Given the description of an element on the screen output the (x, y) to click on. 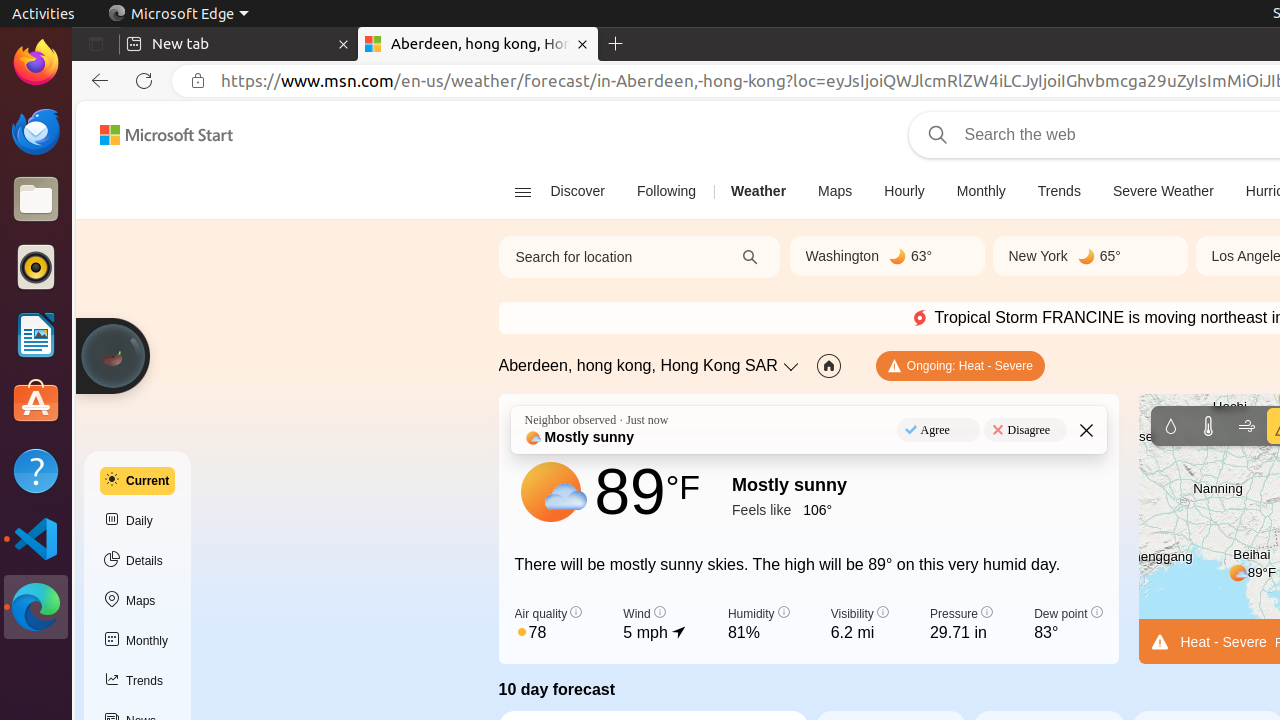
Open navigation menu Element type: push-button (522, 191)
89 °F Element type: link (647, 492)
Temperature Element type: push-button (1208, 426)
Visibility 6.2 mi Element type: link (859, 625)
Ongoing: Heat - Severe Element type: link (960, 366)
